Given the description of an element on the screen output the (x, y) to click on. 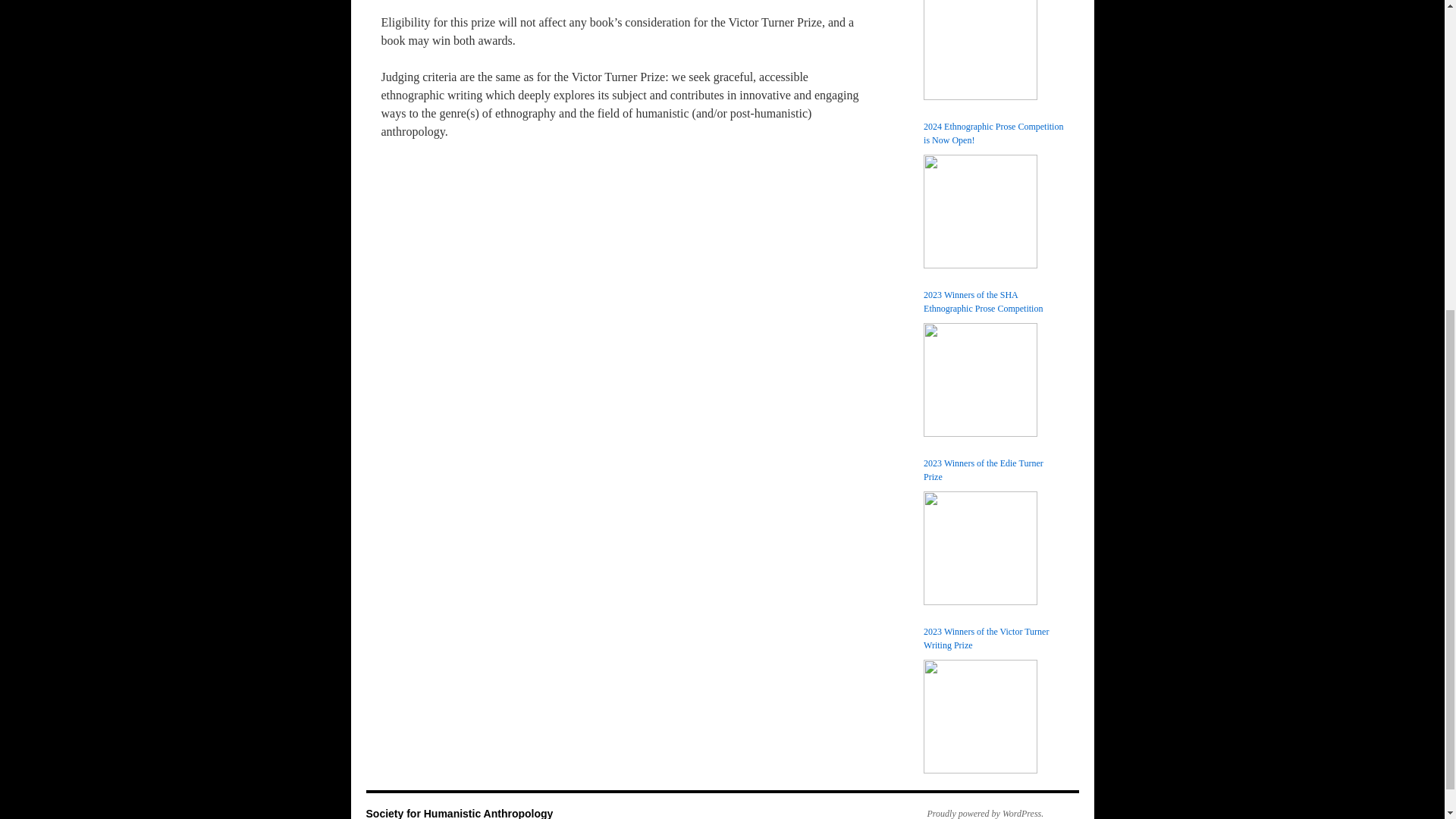
2023 Winners of the Edie Turner Prize (979, 548)
2023 Winners of the Edie Turner Prize (992, 470)
2024 Ethnographic Prose Competition is Now Open! (979, 211)
2023 Winners of the Victor Turner Writing Prize (992, 637)
2024 Ethnographic Prose Competition is Now Open! (992, 133)
2023 Winners of the Victor Turner Writing Prize (979, 716)
2024 Ethnographic Poetry Competition is now open! (979, 49)
2023 Winners of the SHA Ethnographic Prose Competition (979, 379)
2023 Winners of the SHA Ethnographic Prose Competition (992, 301)
